Given the description of an element on the screen output the (x, y) to click on. 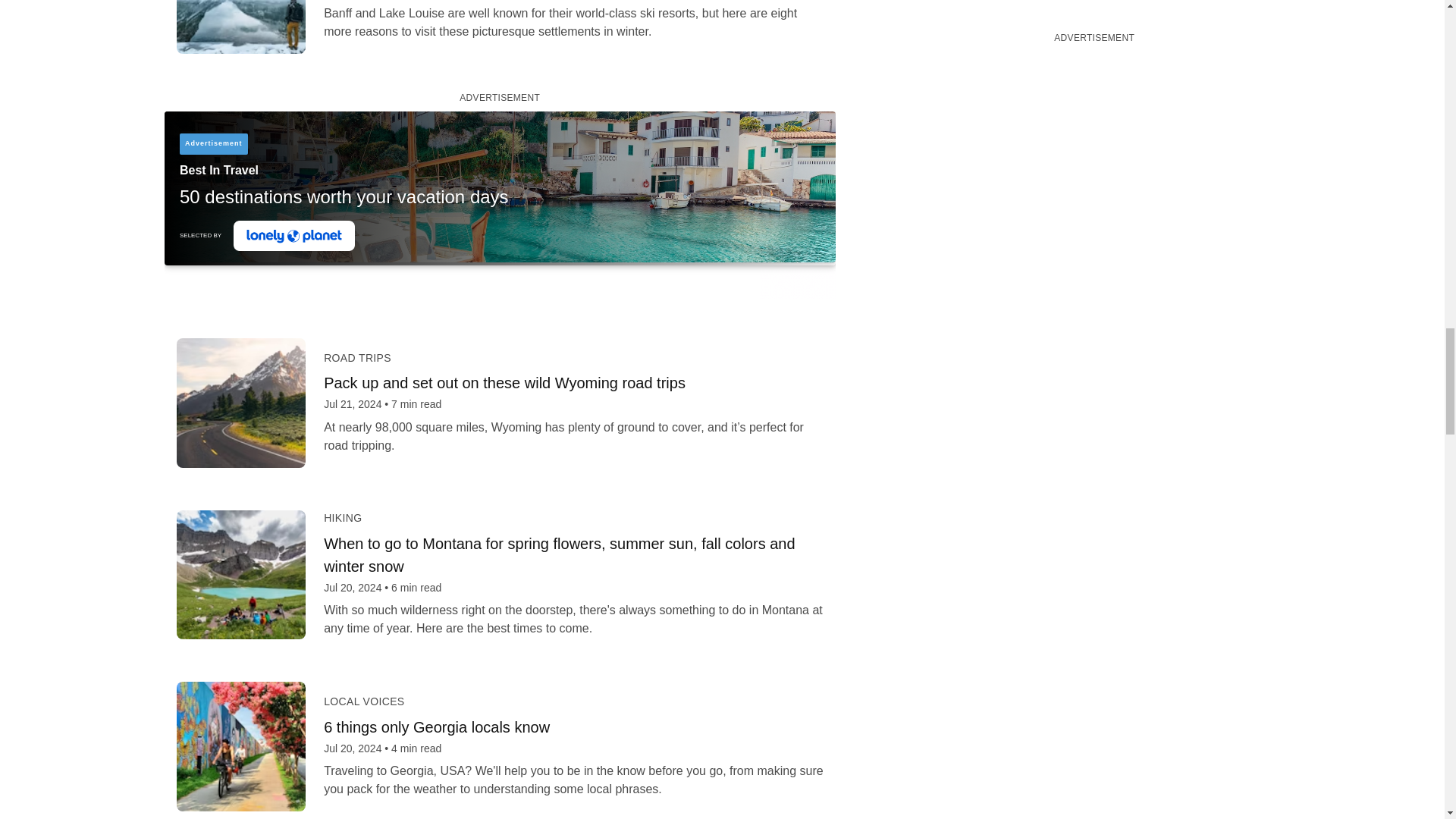
6 things only Georgia locals know (573, 726)
Pack up and set out on these wild Wyoming road trips (573, 382)
3rd party ad content (498, 204)
